Given the description of an element on the screen output the (x, y) to click on. 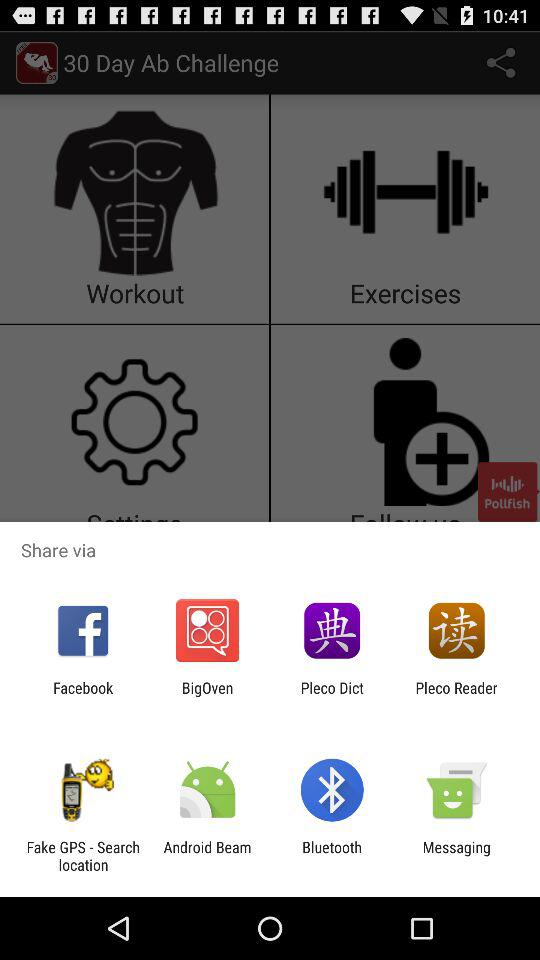
turn on the bluetooth icon (331, 856)
